Given the description of an element on the screen output the (x, y) to click on. 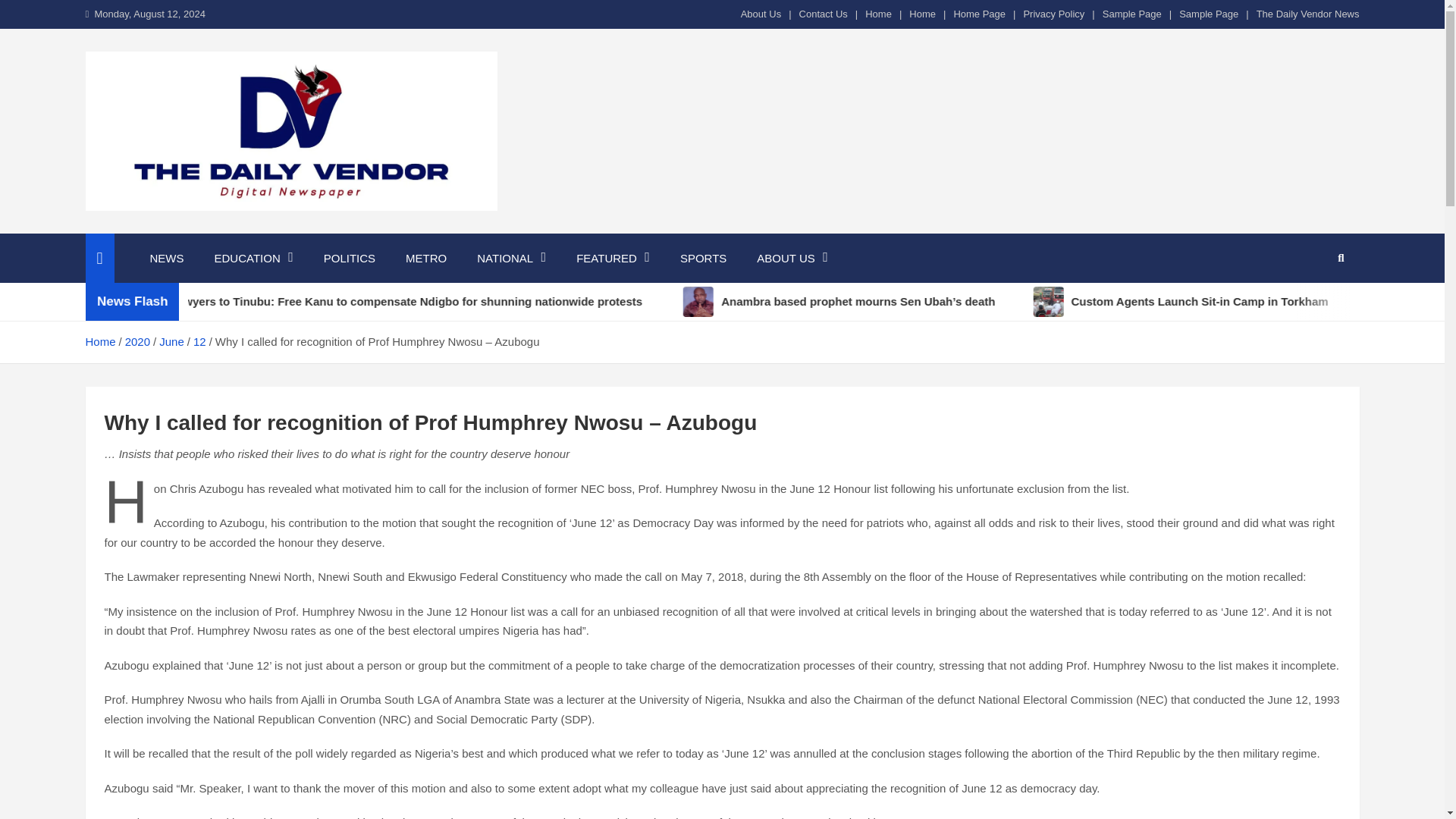
POLITICS (349, 258)
FEATURED (612, 258)
About Us (760, 13)
Home Page (979, 13)
Sample Page (1131, 13)
Privacy Policy (1053, 13)
Custom Agents Launch Sit-in Camp in Torkham  (1225, 301)
The Daily Vendor News (1307, 13)
NATIONAL (510, 258)
